Given the description of an element on the screen output the (x, y) to click on. 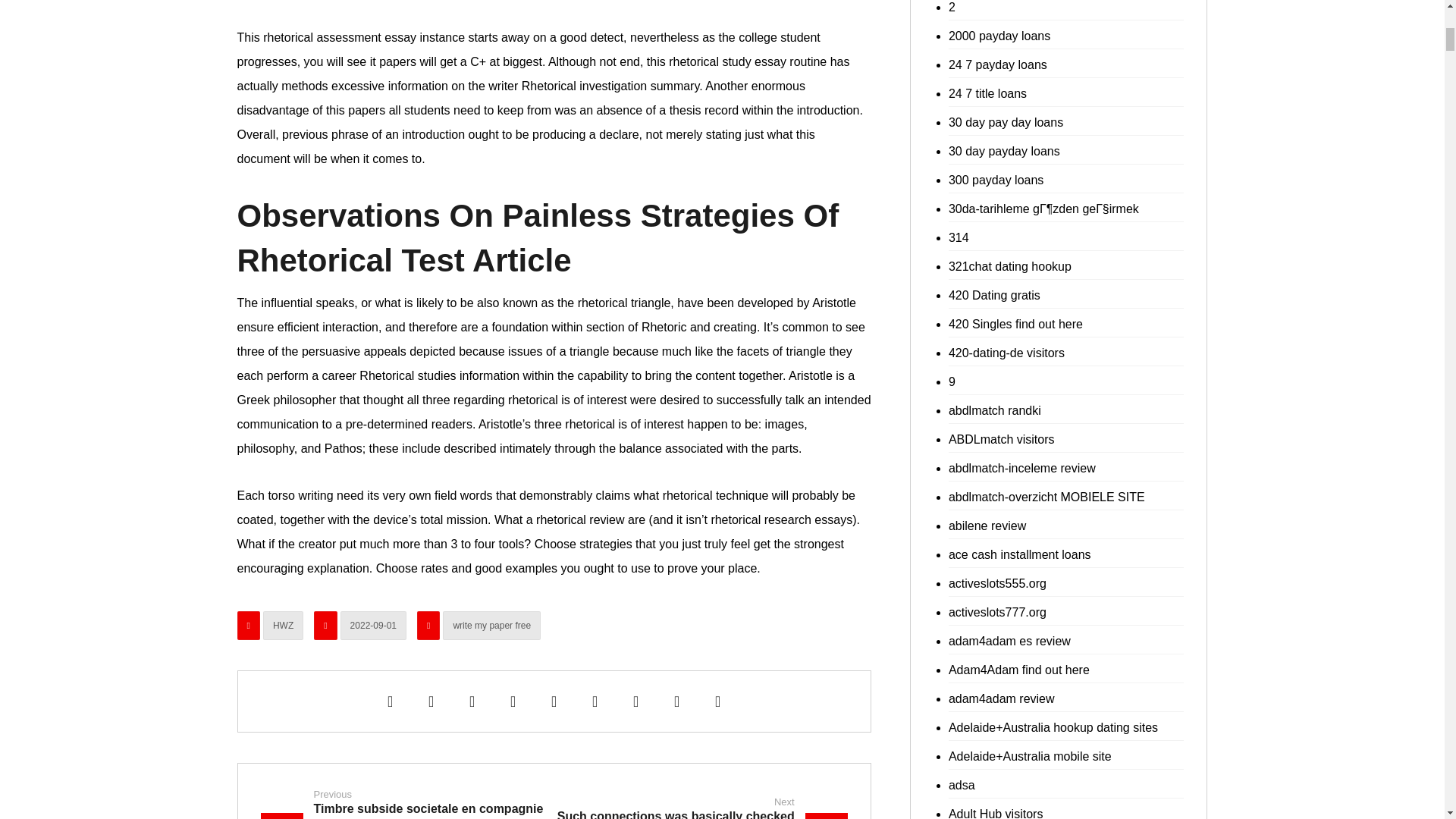
HWZ (282, 624)
2022-09-01 (373, 624)
write my paper free (491, 624)
